Given the description of an element on the screen output the (x, y) to click on. 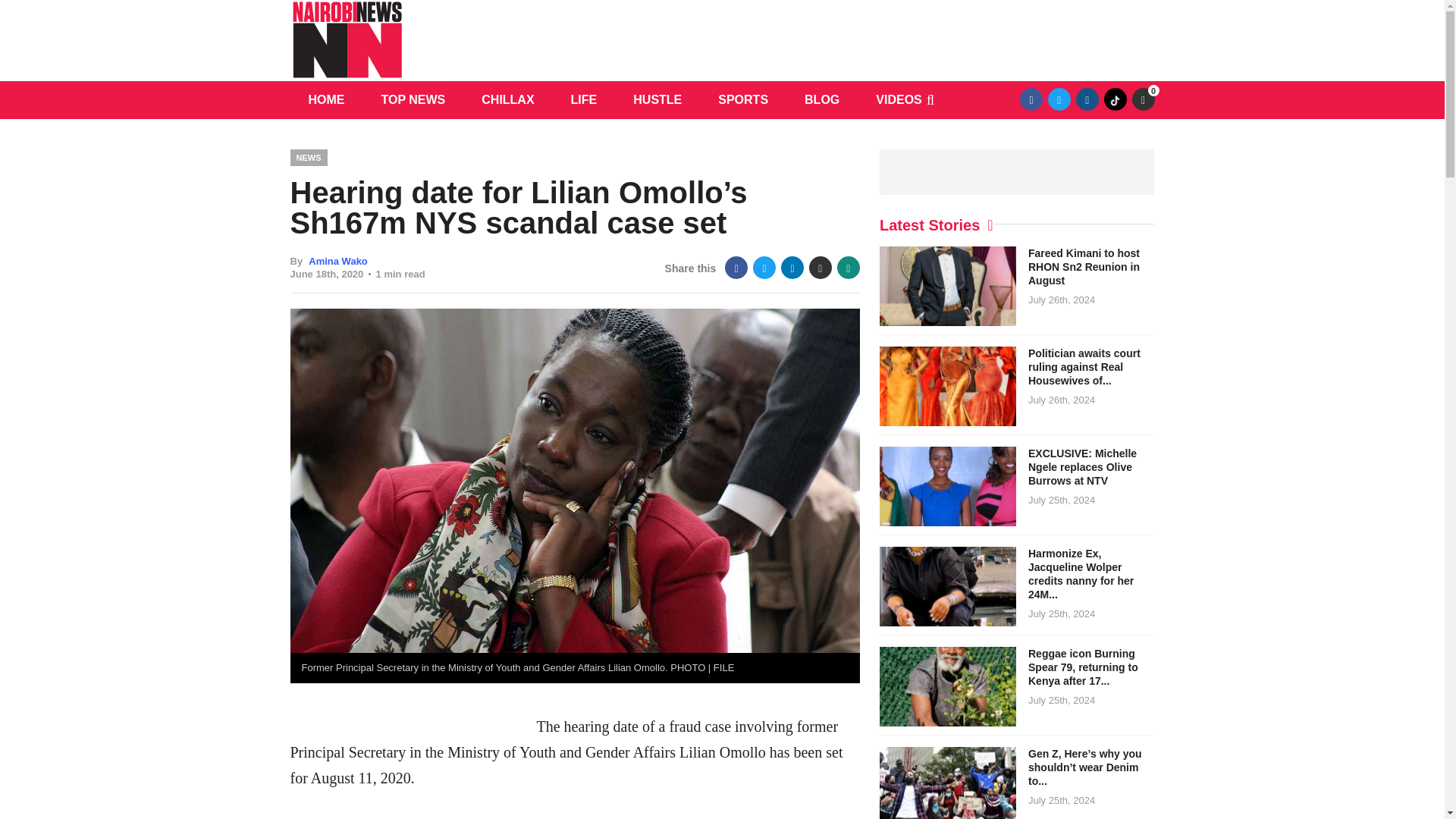
Email (820, 267)
BLOG (821, 99)
Updates made in the last 20 minutes (1142, 98)
LIFE (584, 99)
VIDEOS (898, 99)
Instagram (1087, 98)
0 (1142, 98)
Amina Wako (338, 260)
CHILLAX (507, 99)
LinkedIn (791, 267)
Facebook (1031, 98)
HUSTLE (657, 99)
Twitter (1059, 98)
Twitter (764, 267)
TOP NEWS (412, 99)
